Given the description of an element on the screen output the (x, y) to click on. 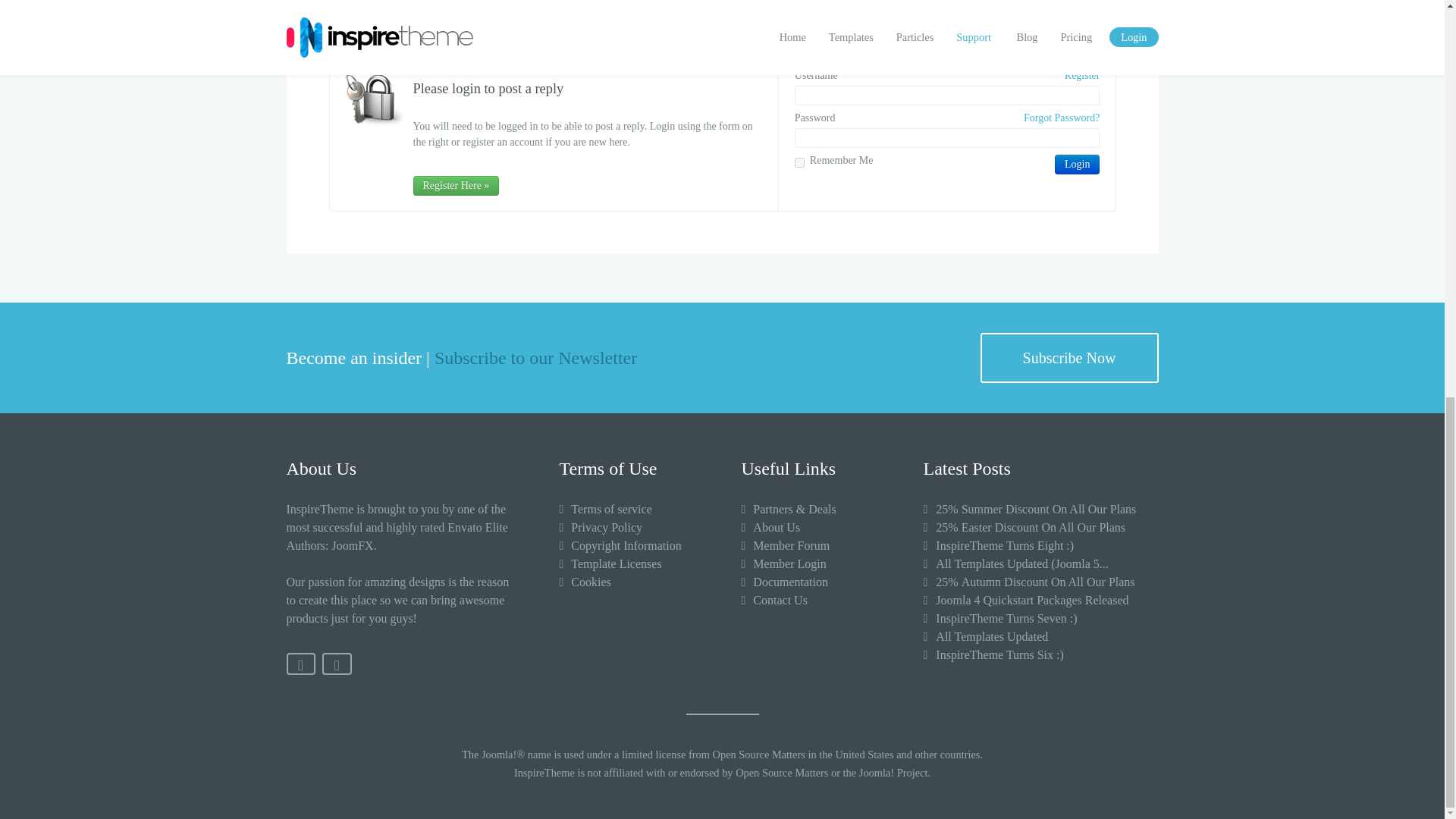
Subscribe Now (1068, 357)
yes (799, 162)
Login (1076, 164)
Login (1076, 164)
Forgot Password? (1061, 118)
Register (1082, 75)
Facebook (300, 663)
Twitter (336, 663)
